Given the description of an element on the screen output the (x, y) to click on. 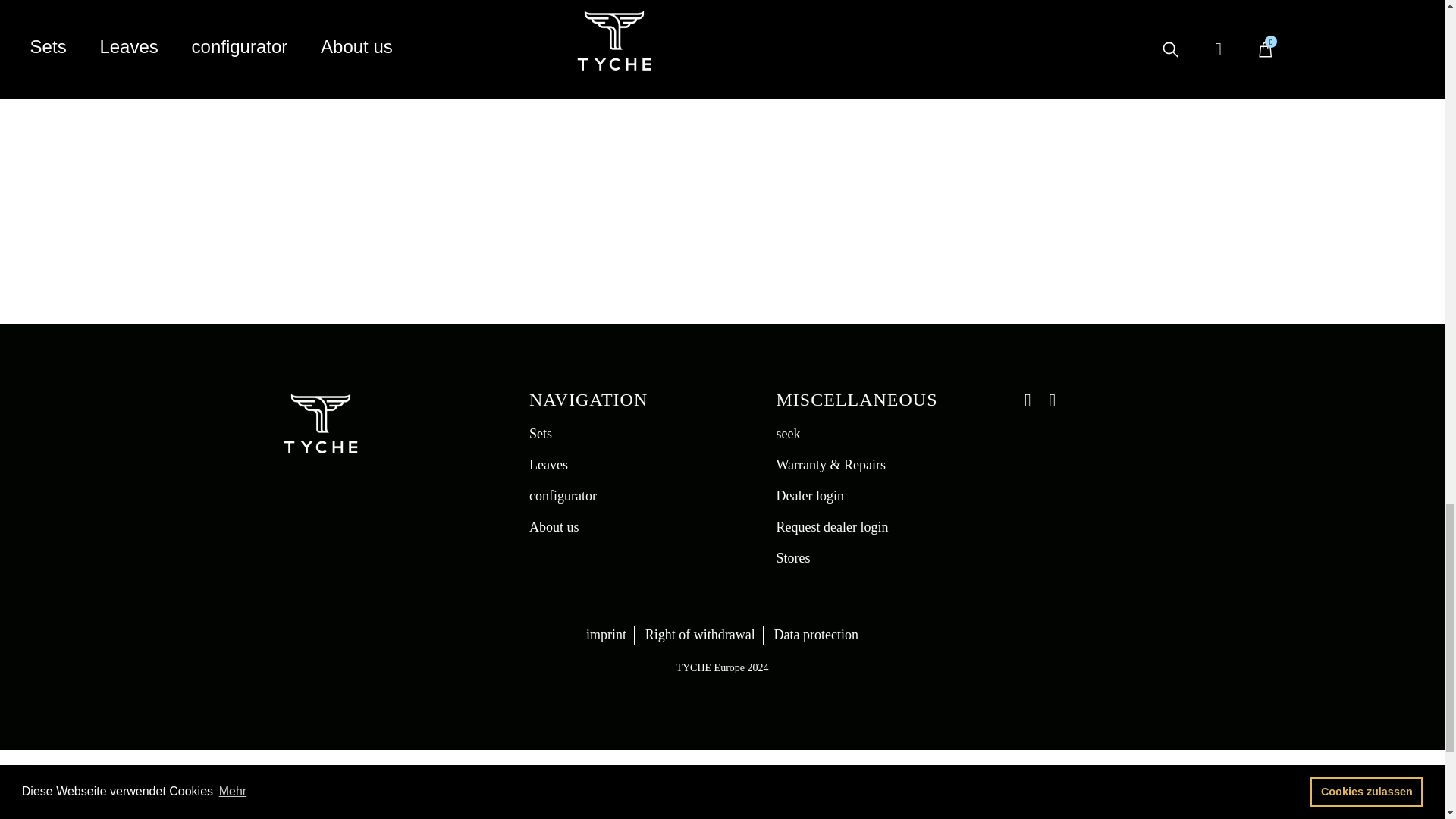
Sets (540, 433)
Leaves (548, 464)
